Given the description of an element on the screen output the (x, y) to click on. 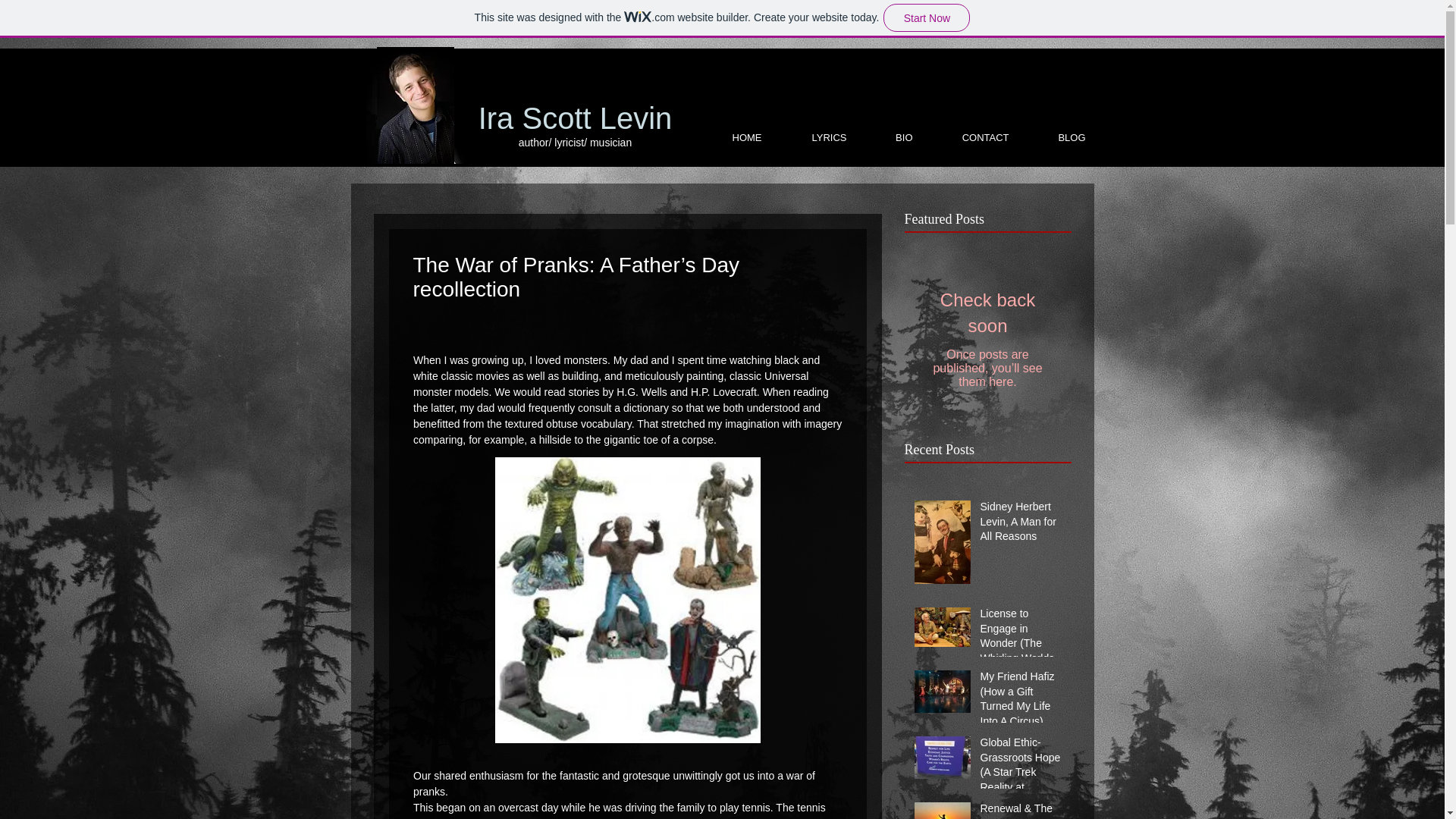
BLOG (1055, 137)
BIO (888, 137)
CONTACT (968, 137)
Sidney Herbert Levin, A Man for All Reasons (1020, 524)
HOME (730, 137)
LYRICS (813, 137)
